Given the description of an element on the screen output the (x, y) to click on. 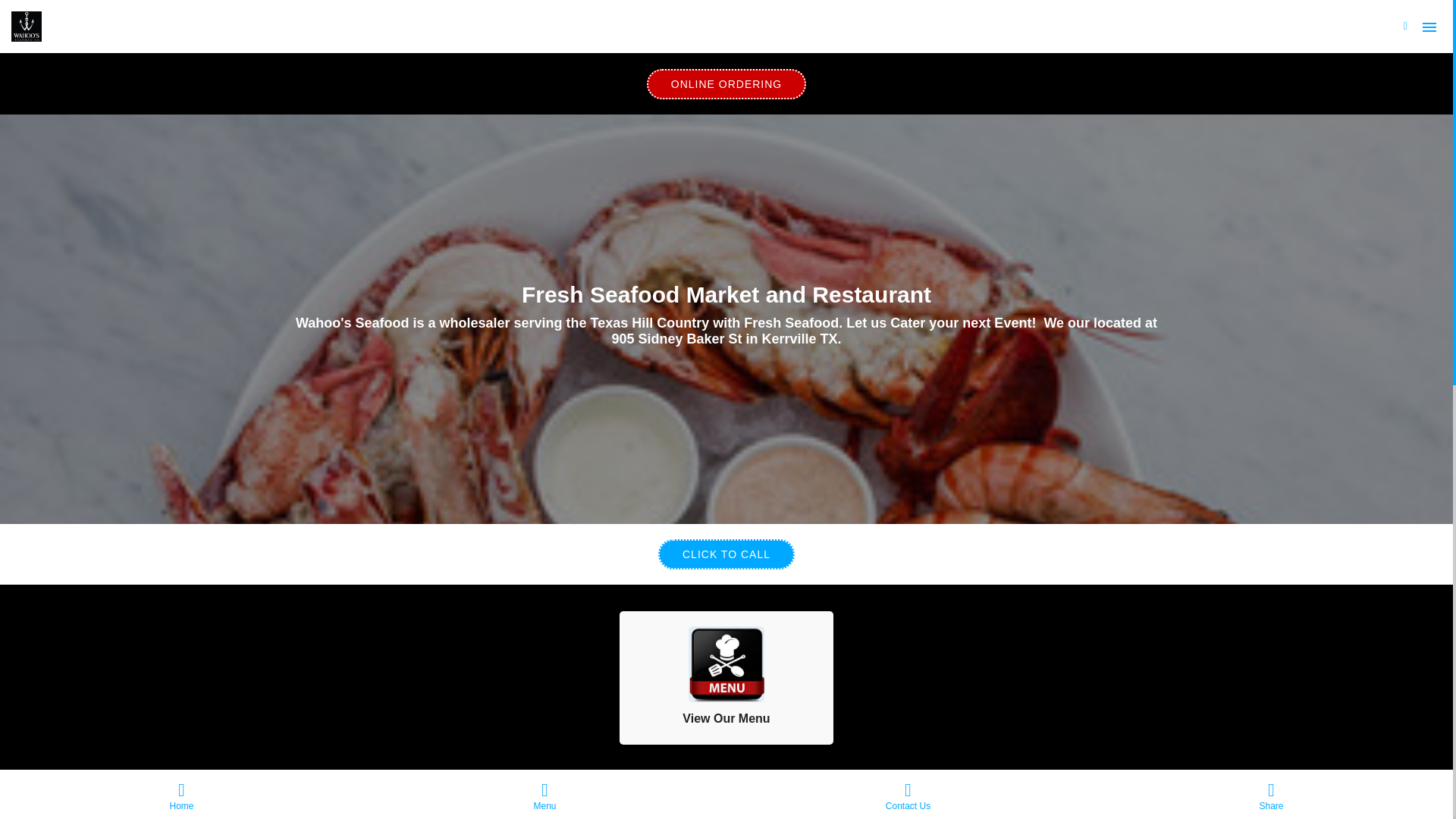
CLICK TO CALL (726, 553)
View Our Menu (727, 677)
ONLINE ORDERING (726, 83)
